Given the description of an element on the screen output the (x, y) to click on. 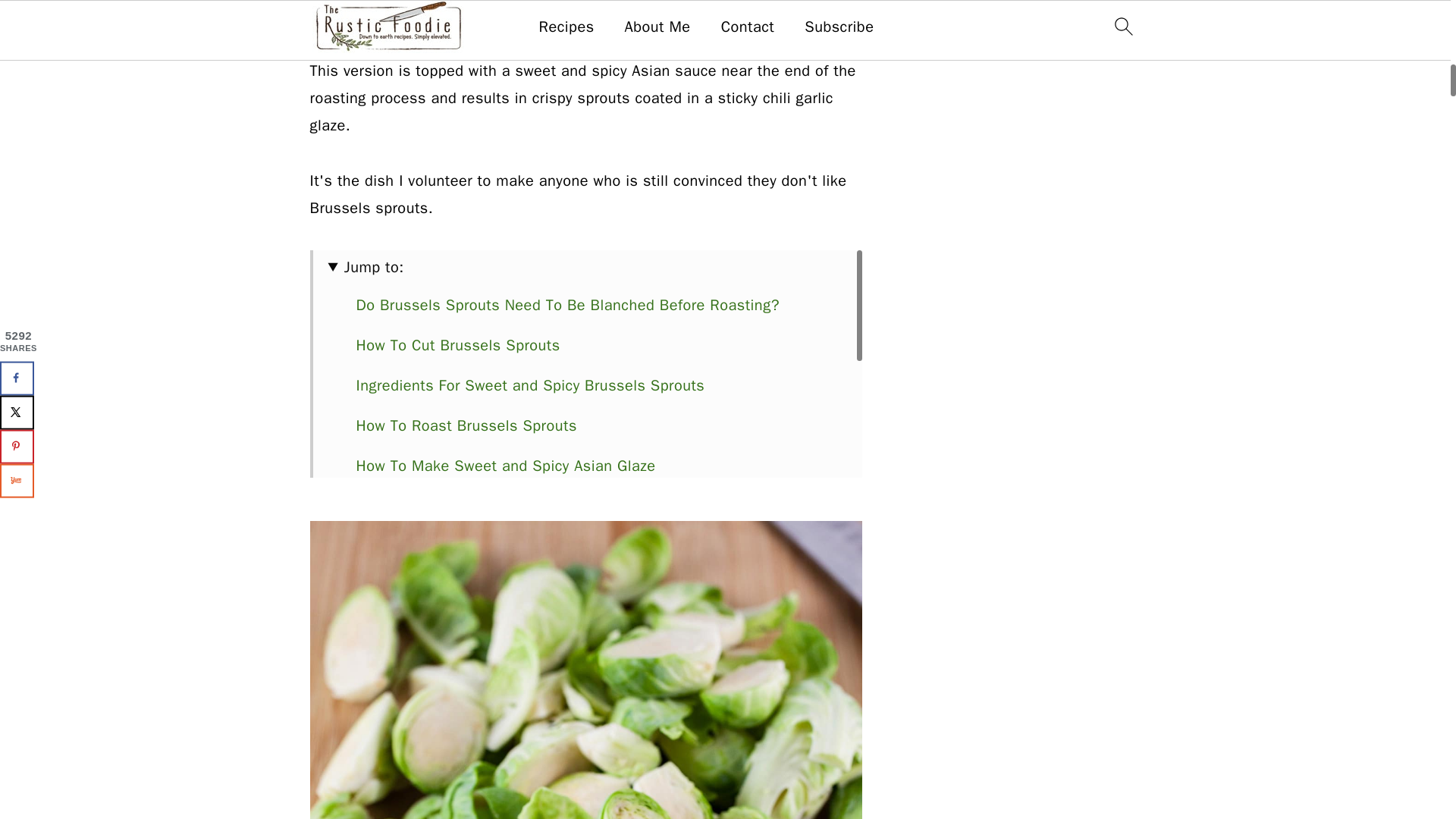
Do Brussels Sprouts Need To Be Blanched Before Roasting? (567, 304)
What To Serve With Asian Roasted Brussels Sprouts (539, 546)
Can They Be Frozen? (429, 626)
How To Make Sweet and Spicy Asian Glaze (506, 465)
How Long Do Brussels Sprouts Take To Roast? (520, 505)
Ingredients For Sweet and Spicy Brussels Sprouts (530, 384)
How To Cut Brussels Sprouts (458, 344)
How To Roast Brussels Sprouts (466, 425)
How Long Do Brussels Sprouts Last In The Fridge? (533, 586)
